Given the description of an element on the screen output the (x, y) to click on. 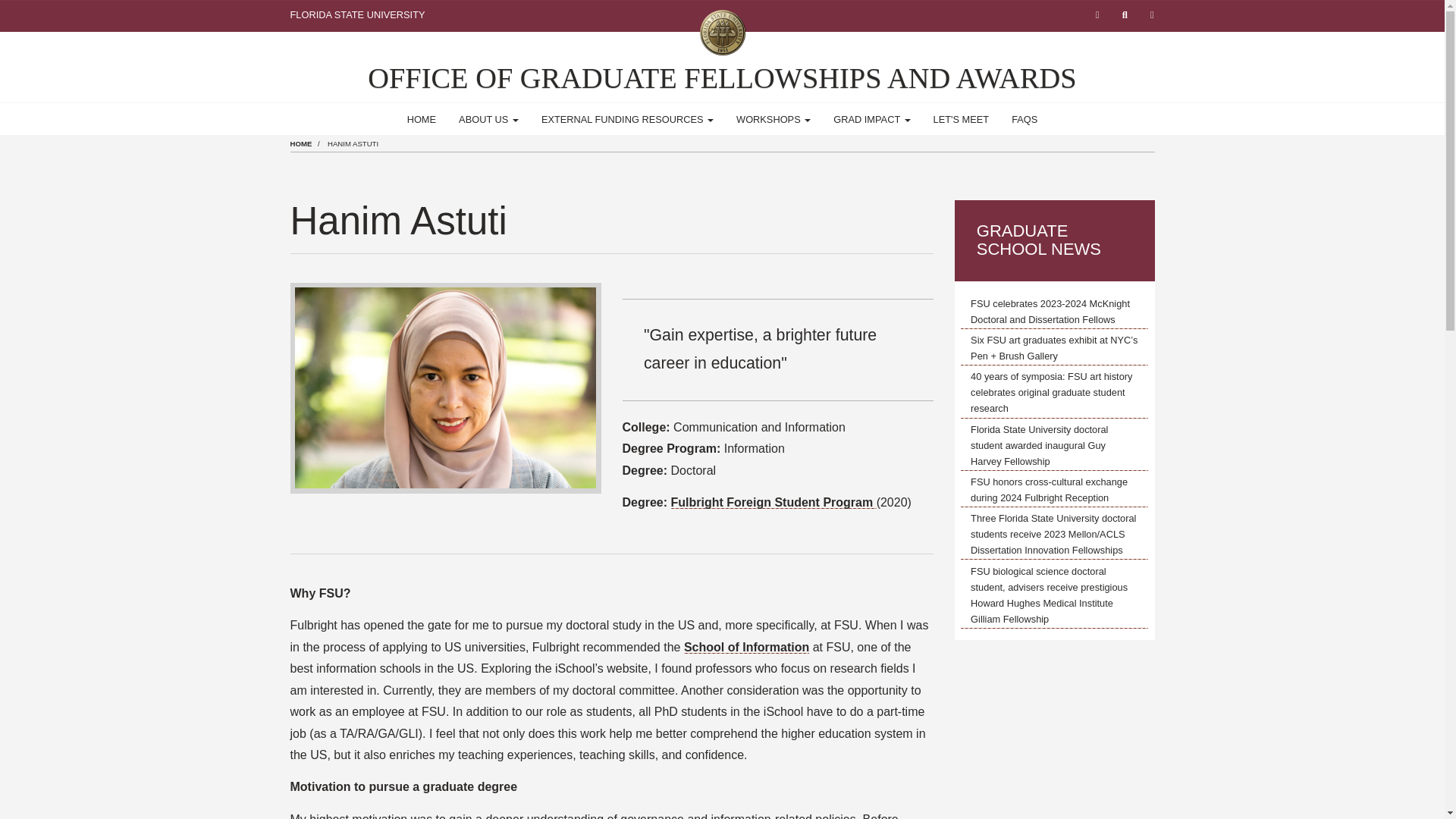
FSU Sites (1151, 15)
OFFICE OF GRADUATE FELLOWSHIPS AND AWARDS (721, 78)
Search (1124, 15)
Webmail (1097, 15)
FLORIDA STATE UNIVERSITY (357, 14)
HOME (421, 119)
